Given the description of an element on the screen output the (x, y) to click on. 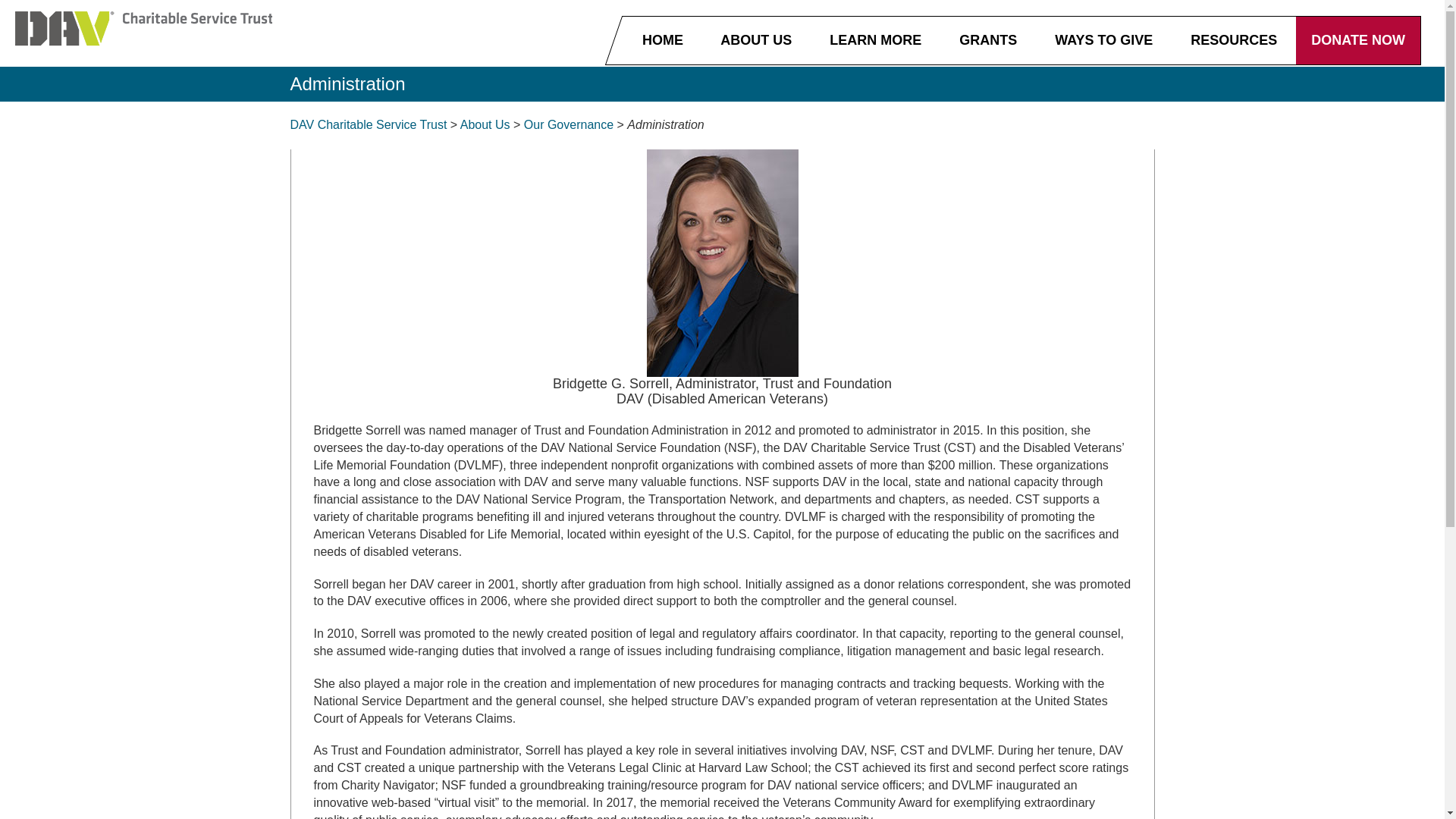
 WAYS TO GIVE (1101, 38)
Learn More (873, 38)
 GRANTS (986, 38)
HOME (662, 38)
Grants (986, 38)
 ABOUT US (753, 38)
About Us (753, 38)
Ways to Give (1101, 38)
 LEARN MORE (873, 38)
HOME (662, 38)
